Given the description of an element on the screen output the (x, y) to click on. 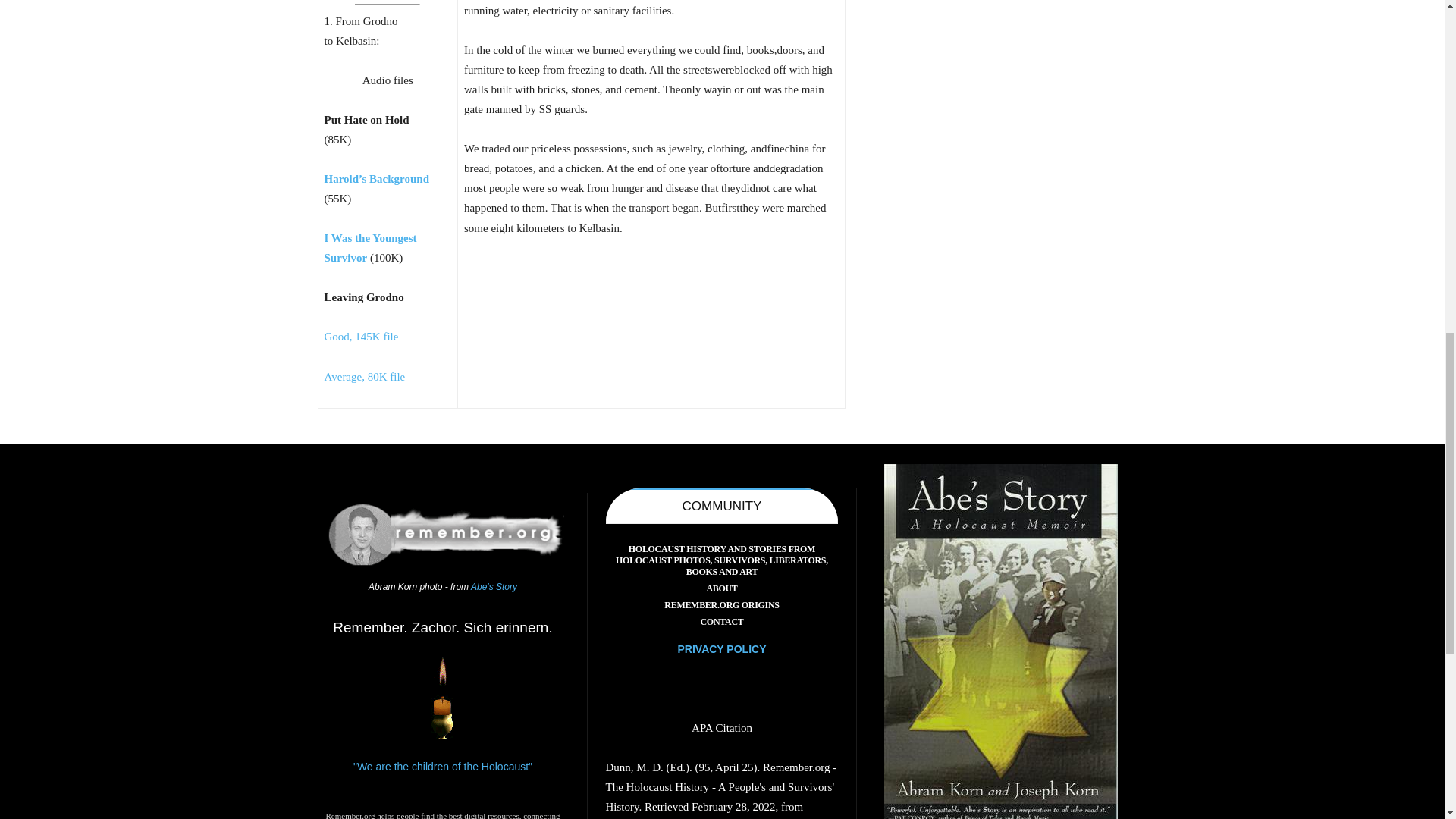
holocausthistoryretina (443, 534)
